Given the description of an element on the screen output the (x, y) to click on. 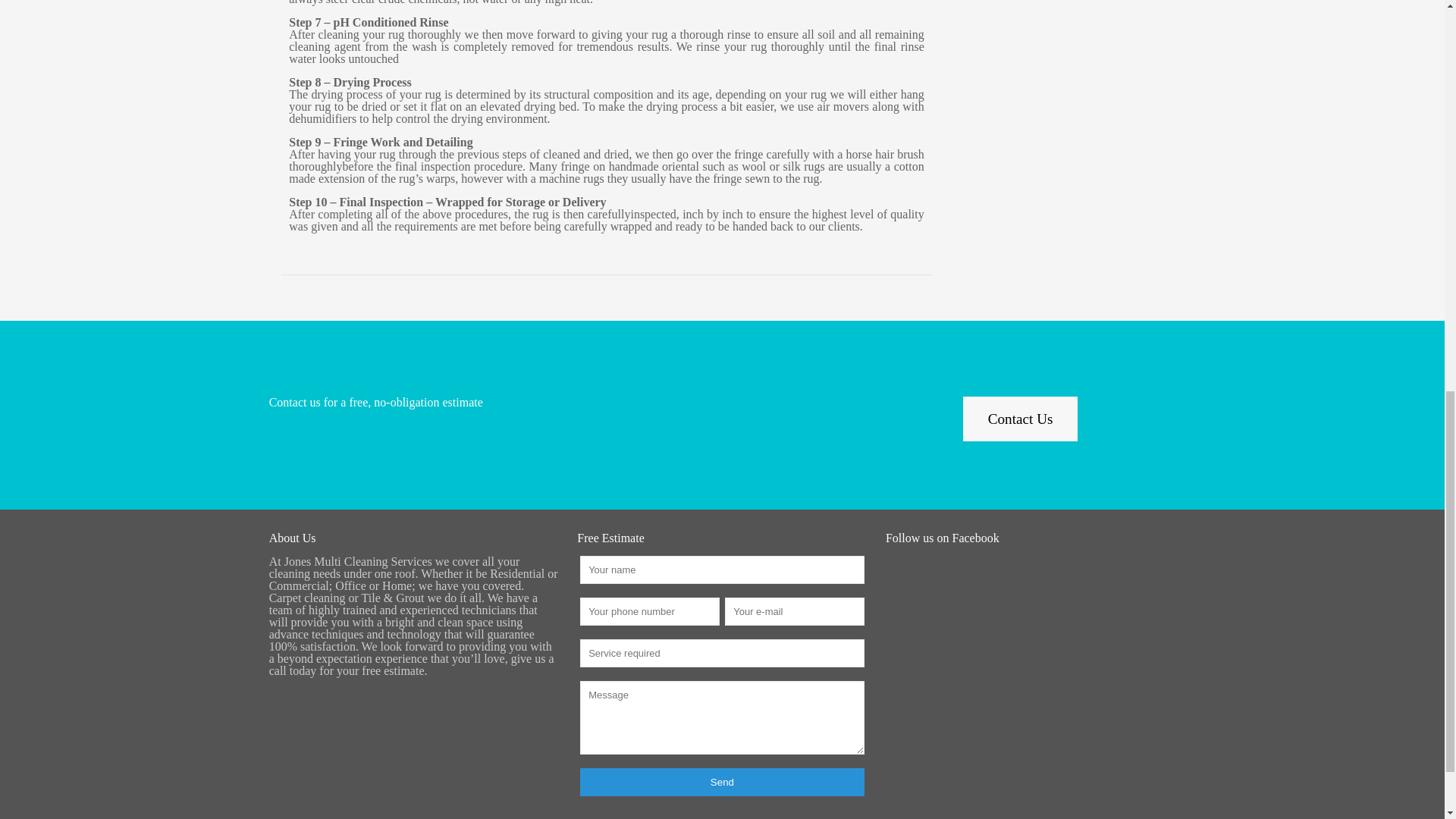
Send (721, 782)
Contact Us (1020, 418)
Send (721, 782)
